Given the description of an element on the screen output the (x, y) to click on. 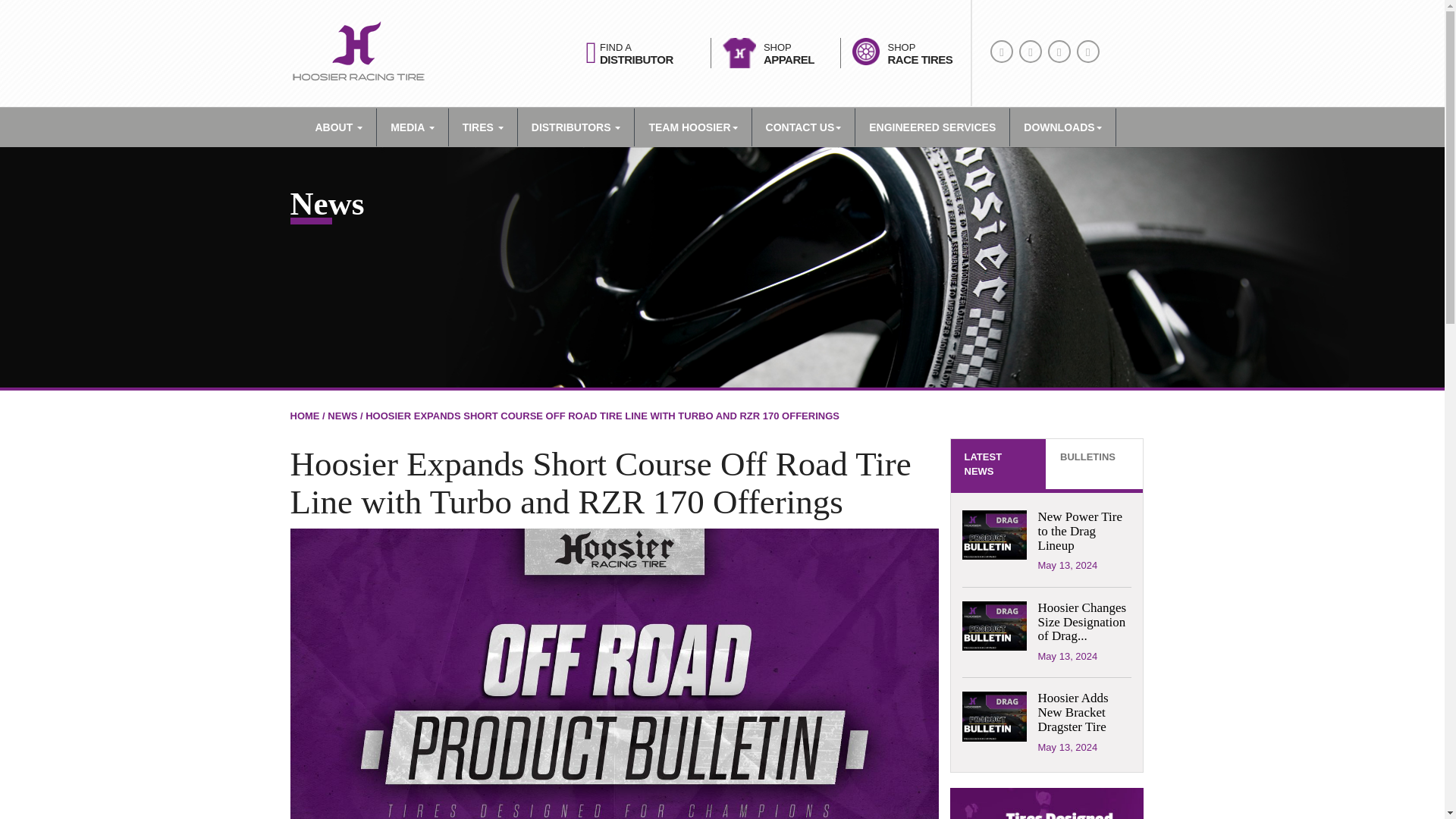
Hoosier Racing Tires (357, 53)
TIRES (482, 127)
MEDIA (921, 60)
ABOUT (411, 127)
